Given the description of an element on the screen output the (x, y) to click on. 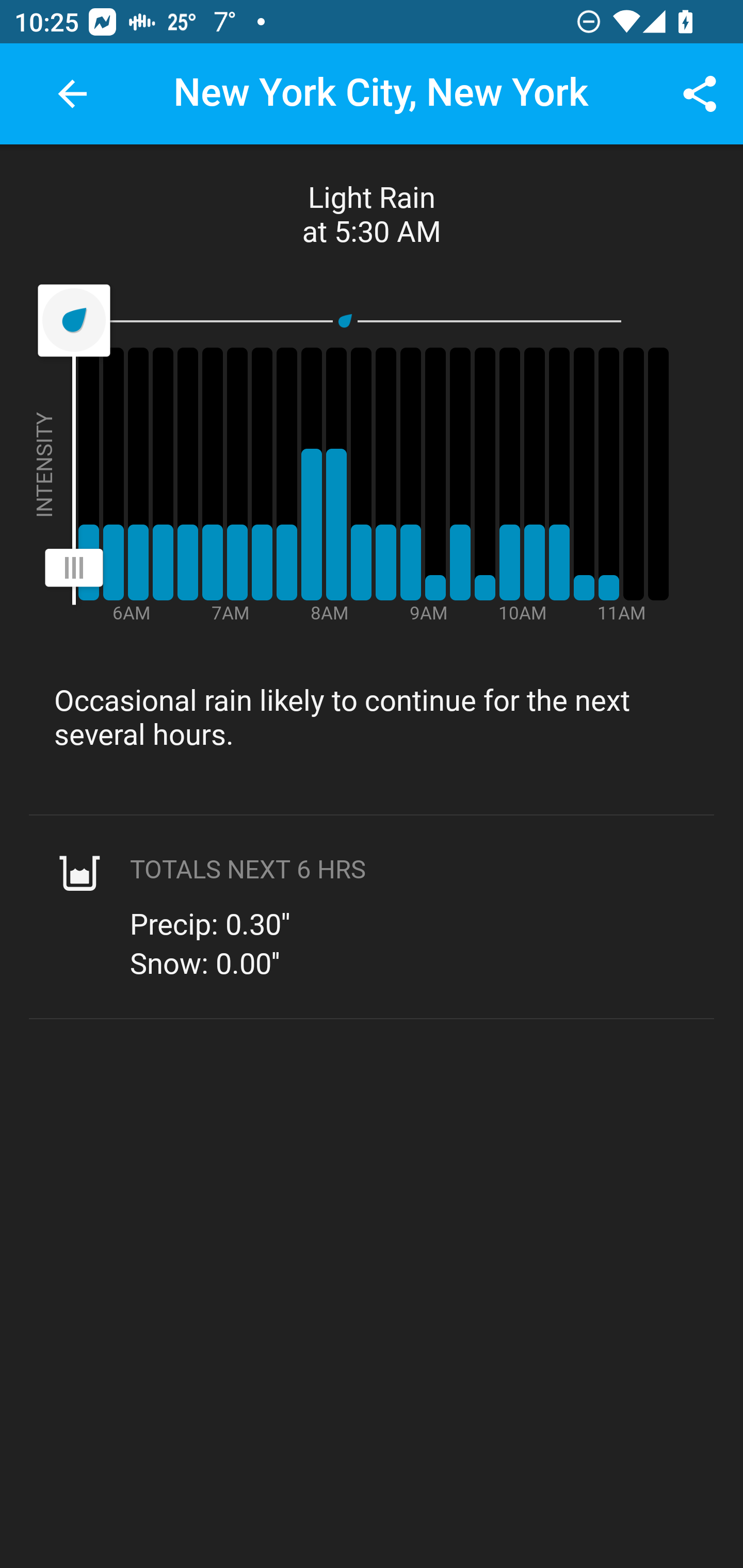
back (71, 93)
Share (699, 93)
